Given the description of an element on the screen output the (x, y) to click on. 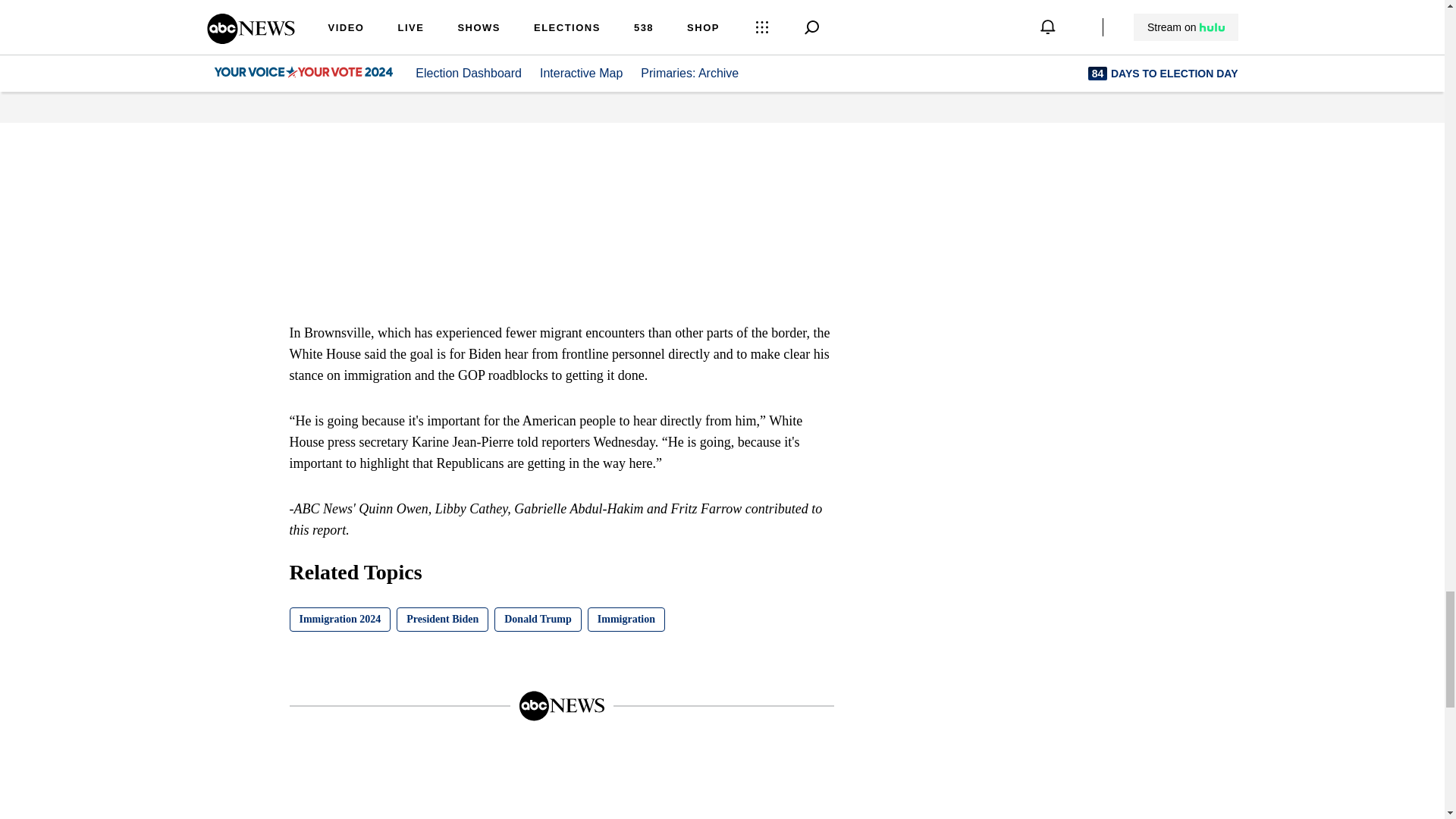
Immigration 2024 (340, 618)
President Biden (441, 618)
Donald Trump (537, 618)
Immigration (626, 618)
